Given the description of an element on the screen output the (x, y) to click on. 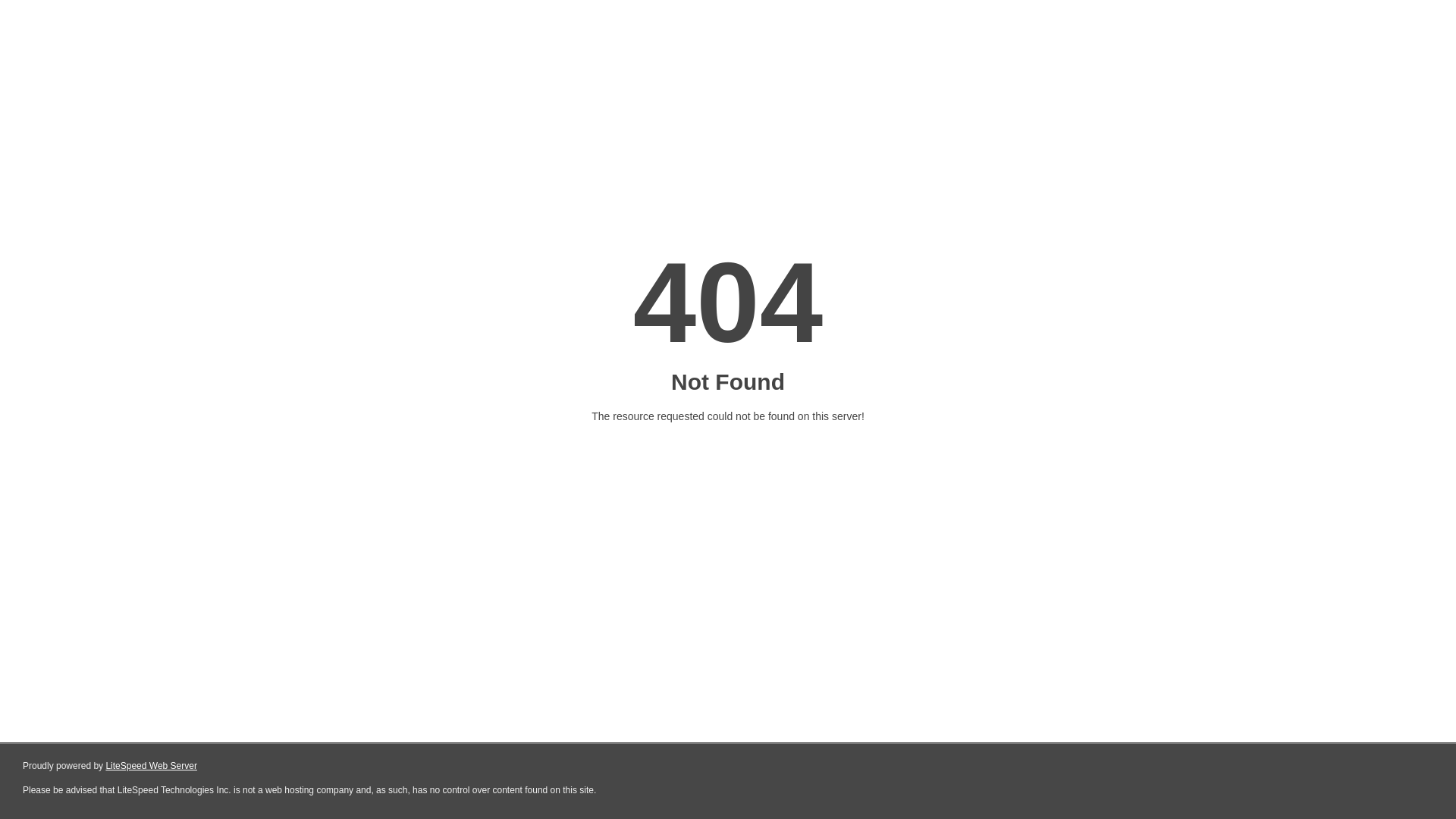
LiteSpeed Web Server Element type: text (151, 765)
